Given the description of an element on the screen output the (x, y) to click on. 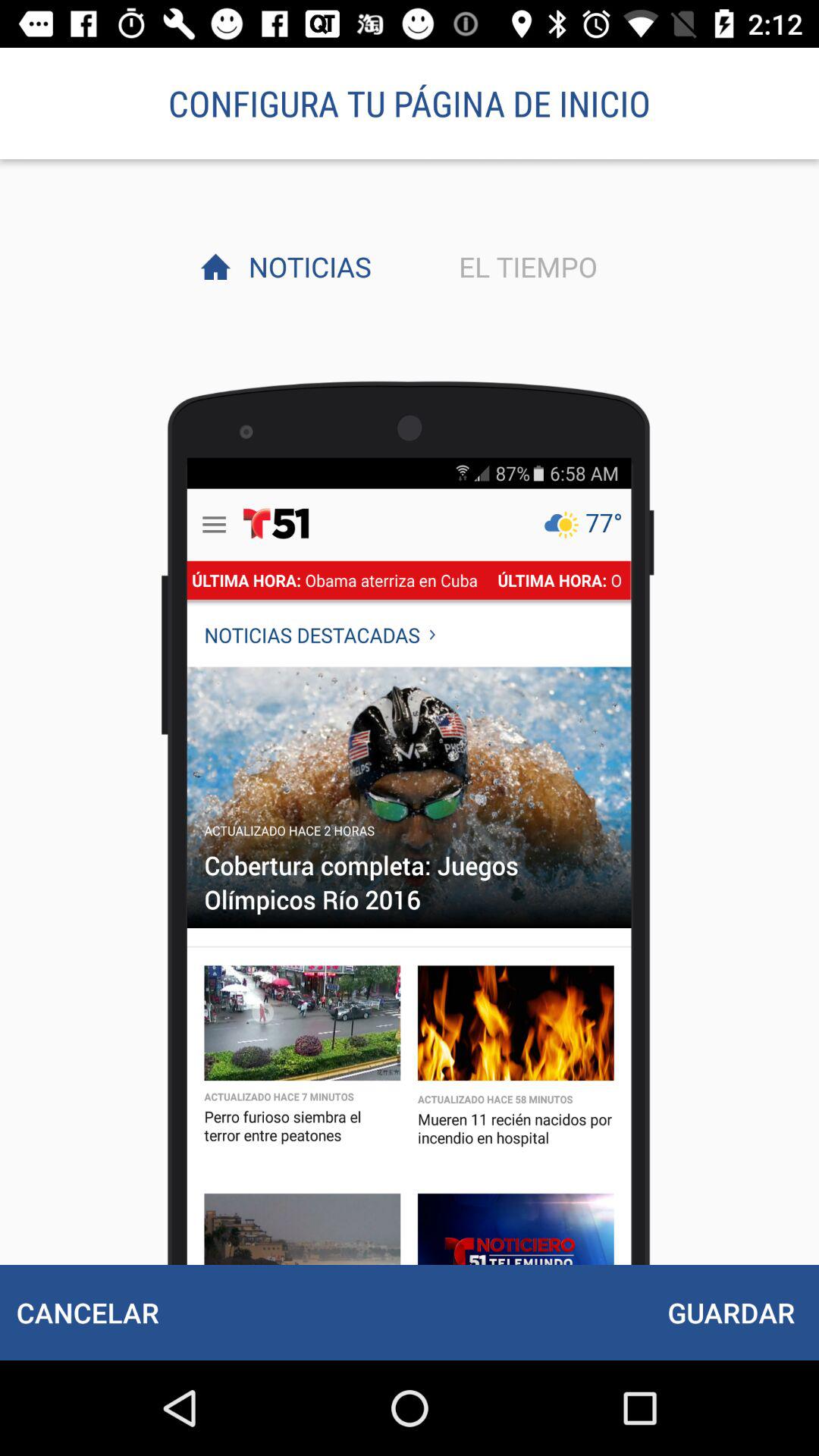
click item next to the el tiempo icon (305, 266)
